Given the description of an element on the screen output the (x, y) to click on. 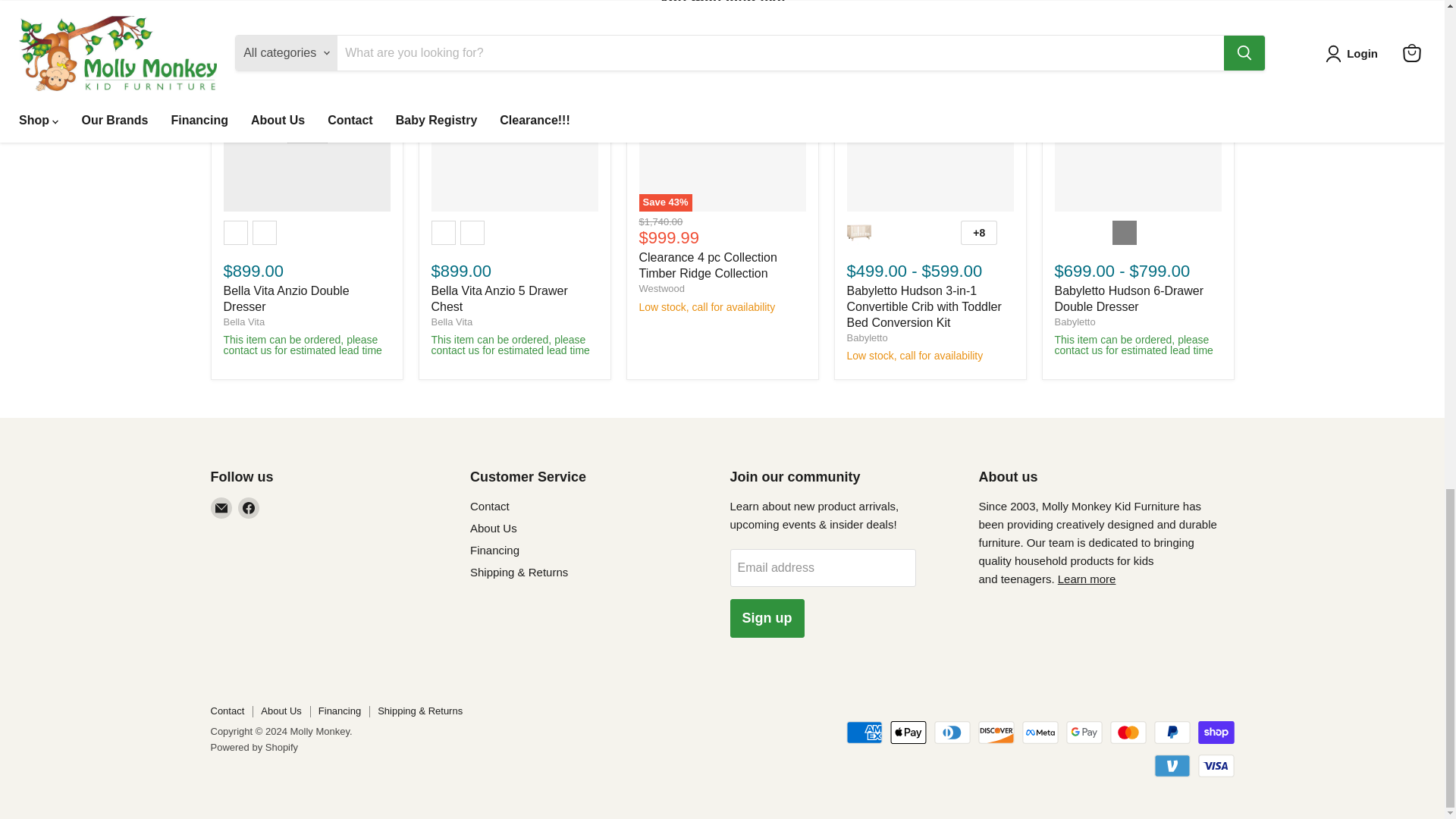
Bella Vita (450, 321)
American Express (863, 732)
About Us (1087, 578)
Westwood (661, 288)
Bella Vita (243, 321)
Facebook (248, 507)
Discover (996, 732)
Apple Pay (907, 732)
Diners Club (952, 732)
Email (221, 507)
Babyletto (1074, 321)
Babyletto (865, 337)
